Given the description of an element on the screen output the (x, y) to click on. 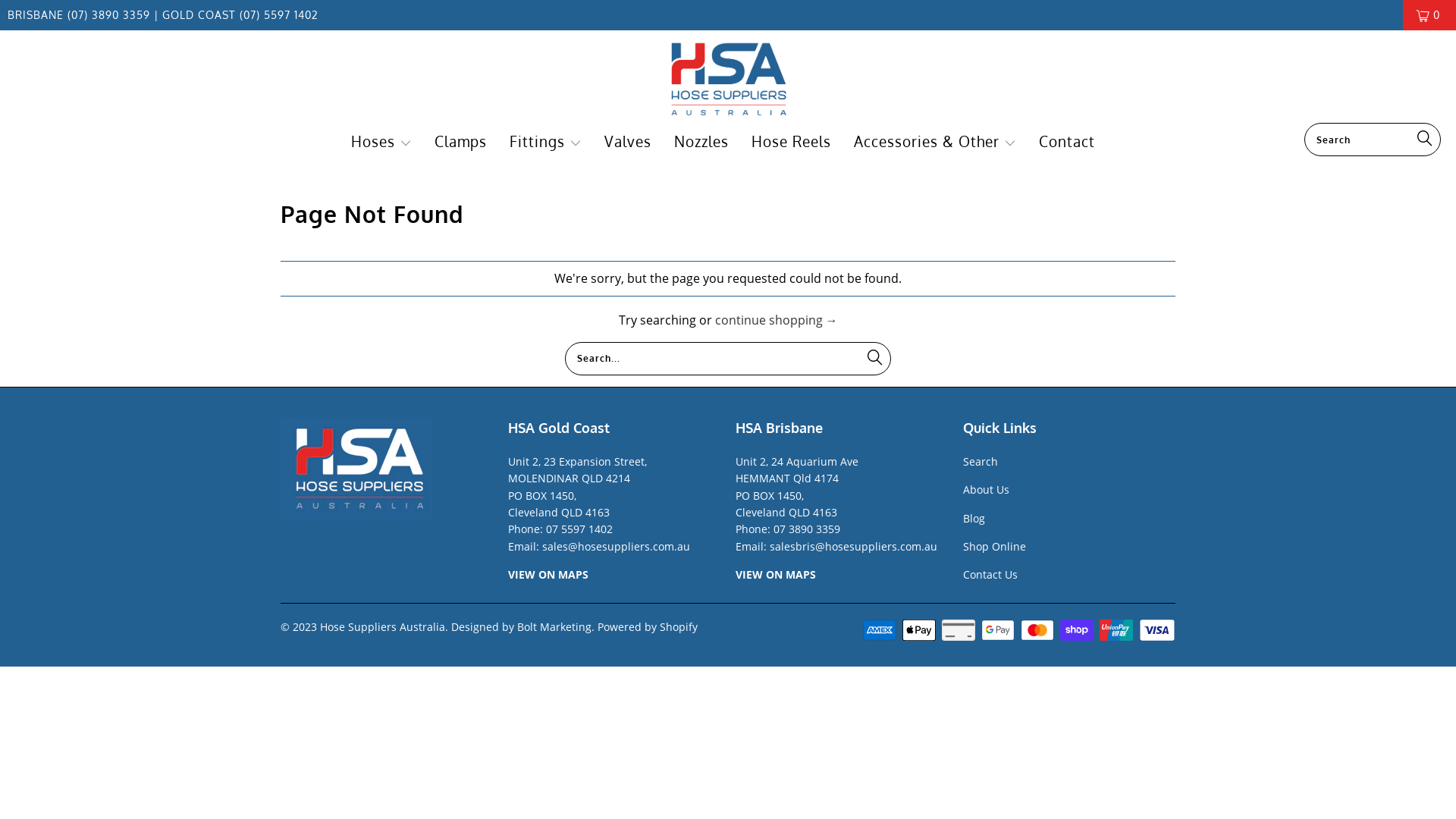
BRISBANE (07) 3890 3359 | Element type: text (82, 14)
VIEW ON MAPS Element type: text (548, 574)
sales@hosesuppliers.com.au Element type: text (616, 546)
Hose Suppliers Australia Element type: hover (727, 79)
Contact Us Element type: text (990, 574)
Valves Element type: text (627, 141)
Blog Element type: text (974, 518)
Hose Reels Element type: text (791, 141)
salesbris@hosesuppliers.com.au Element type: text (853, 546)
Contact Element type: text (1066, 141)
Search Element type: text (980, 461)
Clamps Element type: text (460, 141)
07 3890 3359 Element type: text (806, 528)
Shop Online Element type: text (994, 546)
About Us Element type: text (986, 489)
GOLD COAST (07) 5597 1402 Element type: text (238, 14)
Nozzles Element type: text (701, 141)
07 5597 1402 Element type: text (579, 528)
Hose Suppliers Australia Element type: text (382, 626)
Powered by Shopify Element type: text (647, 626)
VIEW ON MAPS Element type: text (775, 574)
